Given the description of an element on the screen output the (x, y) to click on. 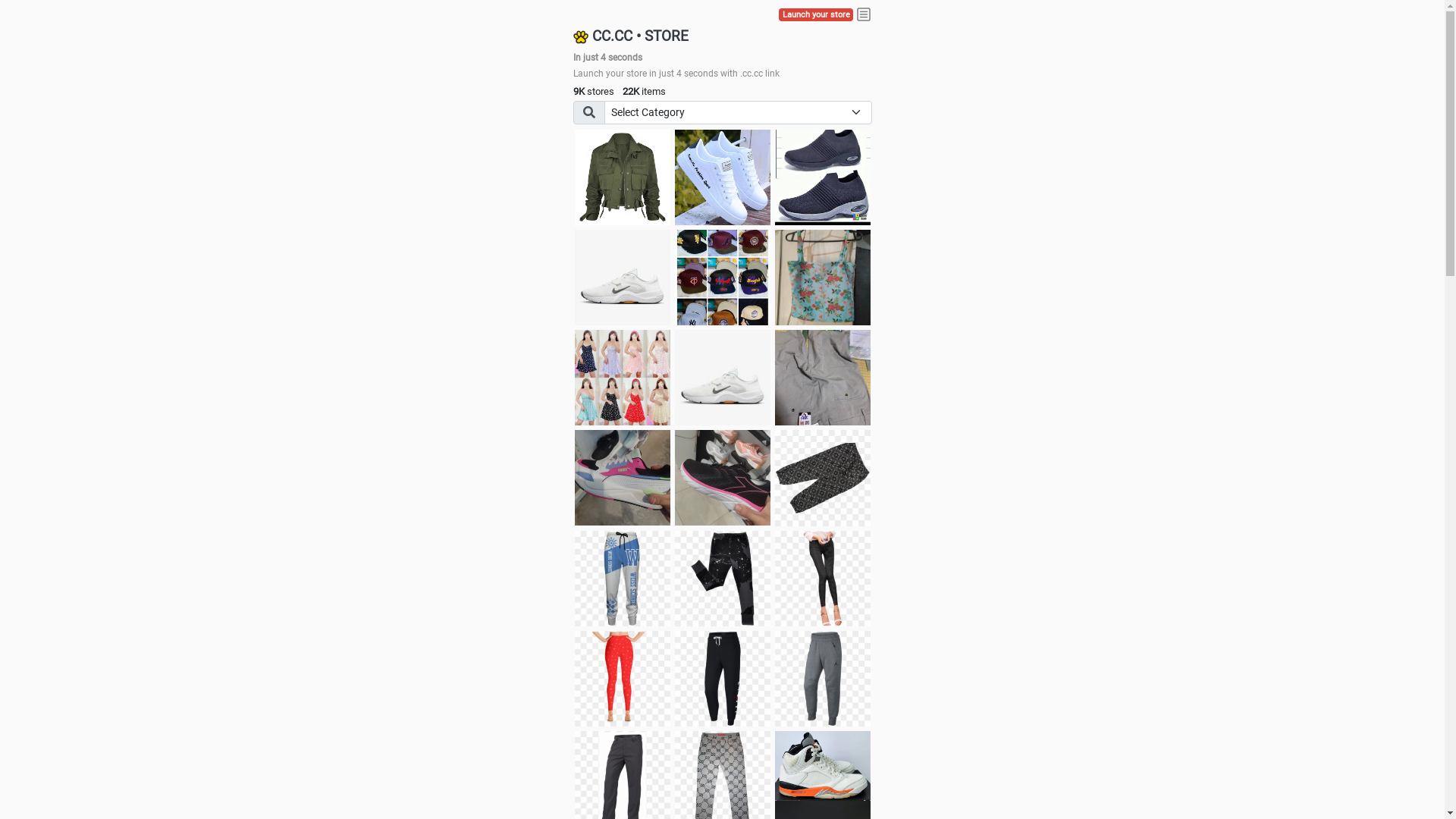
Pant Element type: hover (722, 678)
Short pant Element type: hover (822, 477)
Pant Element type: hover (722, 578)
Shoes for boys Element type: hover (622, 277)
Zapatillas pumas Element type: hover (622, 477)
Dress/square nect top Element type: hover (622, 377)
Ukay cloth Element type: hover (822, 277)
Pant Element type: hover (622, 678)
Zapatillas Element type: hover (722, 477)
Pant Element type: hover (822, 678)
Things we need Element type: hover (722, 277)
Launch your store Element type: text (815, 14)
Pant Element type: hover (822, 578)
white shoes Element type: hover (722, 177)
Shoes Element type: hover (722, 377)
Pant Element type: hover (622, 578)
shoes for boys Element type: hover (822, 177)
jacket Element type: hover (622, 177)
